Given the description of an element on the screen output the (x, y) to click on. 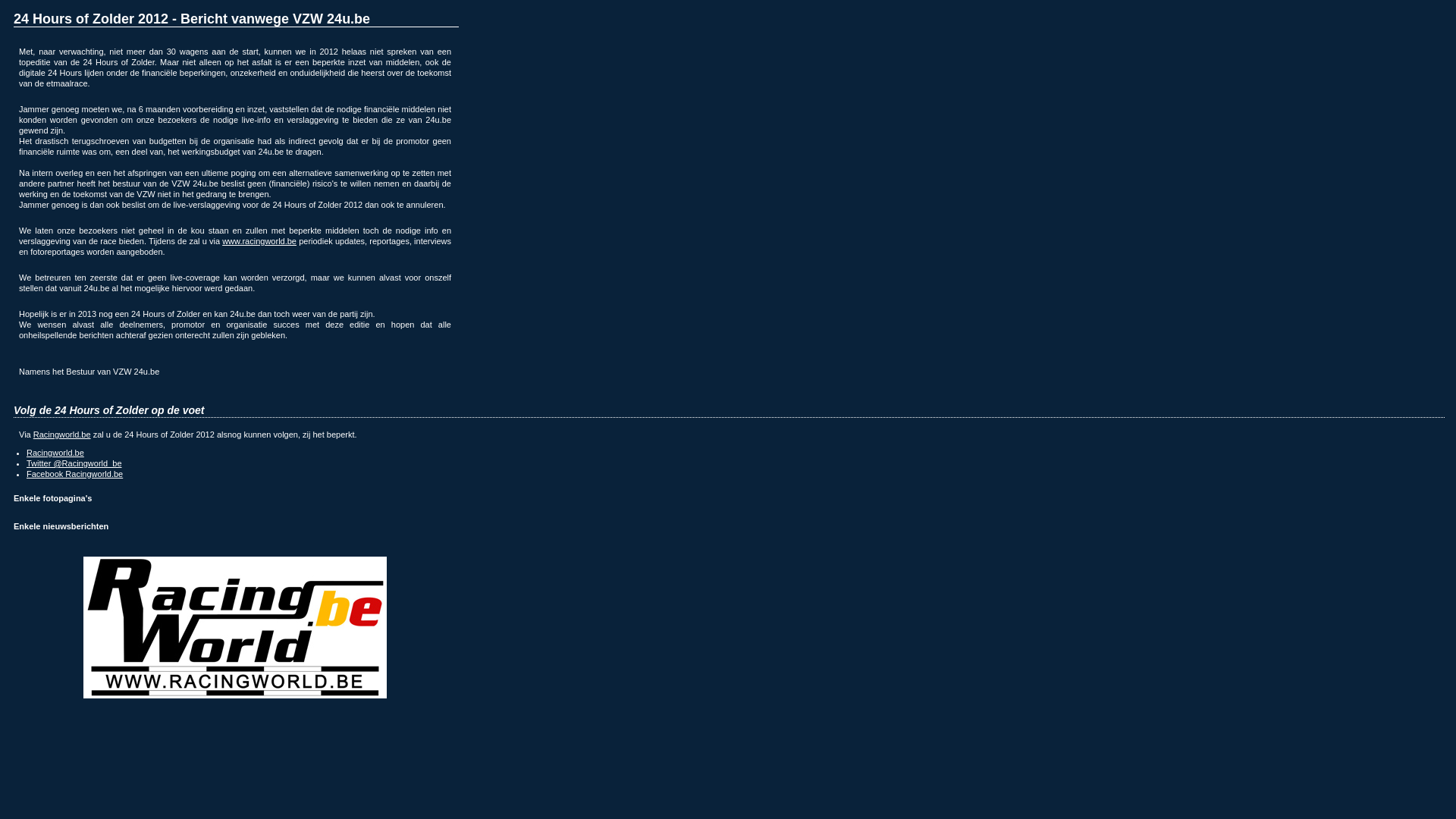
Racingworld.be Element type: text (55, 452)
Racingworld.be Element type: text (62, 434)
www.racingworld.be Element type: text (259, 240)
Twitter @Racingworld_be Element type: text (74, 462)
Facebook Racingworld.be Element type: text (74, 473)
